Given the description of an element on the screen output the (x, y) to click on. 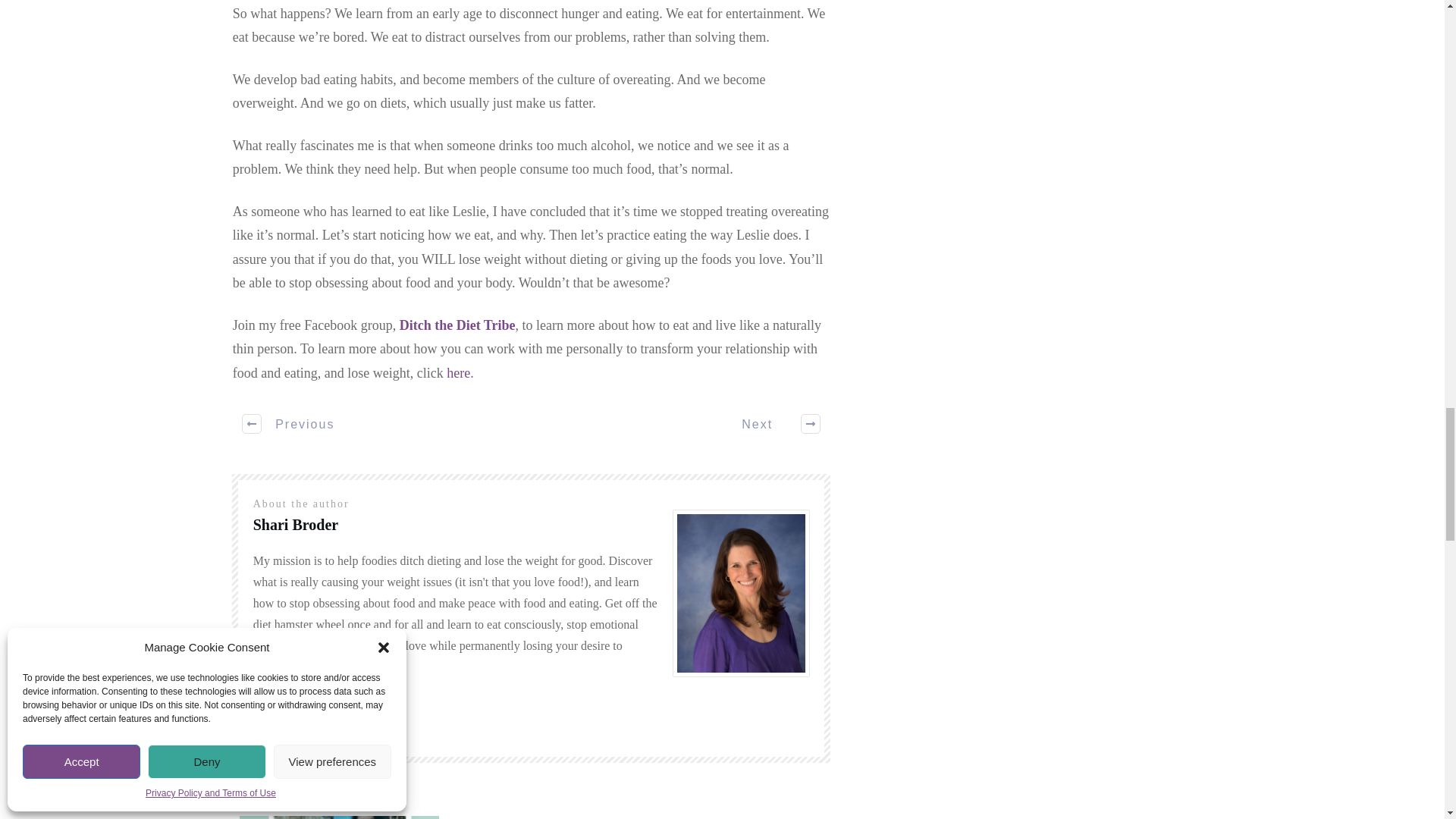
Ditch the Diet Tribe (456, 324)
Previous (289, 423)
here (458, 372)
Next (772, 423)
